Given the description of an element on the screen output the (x, y) to click on. 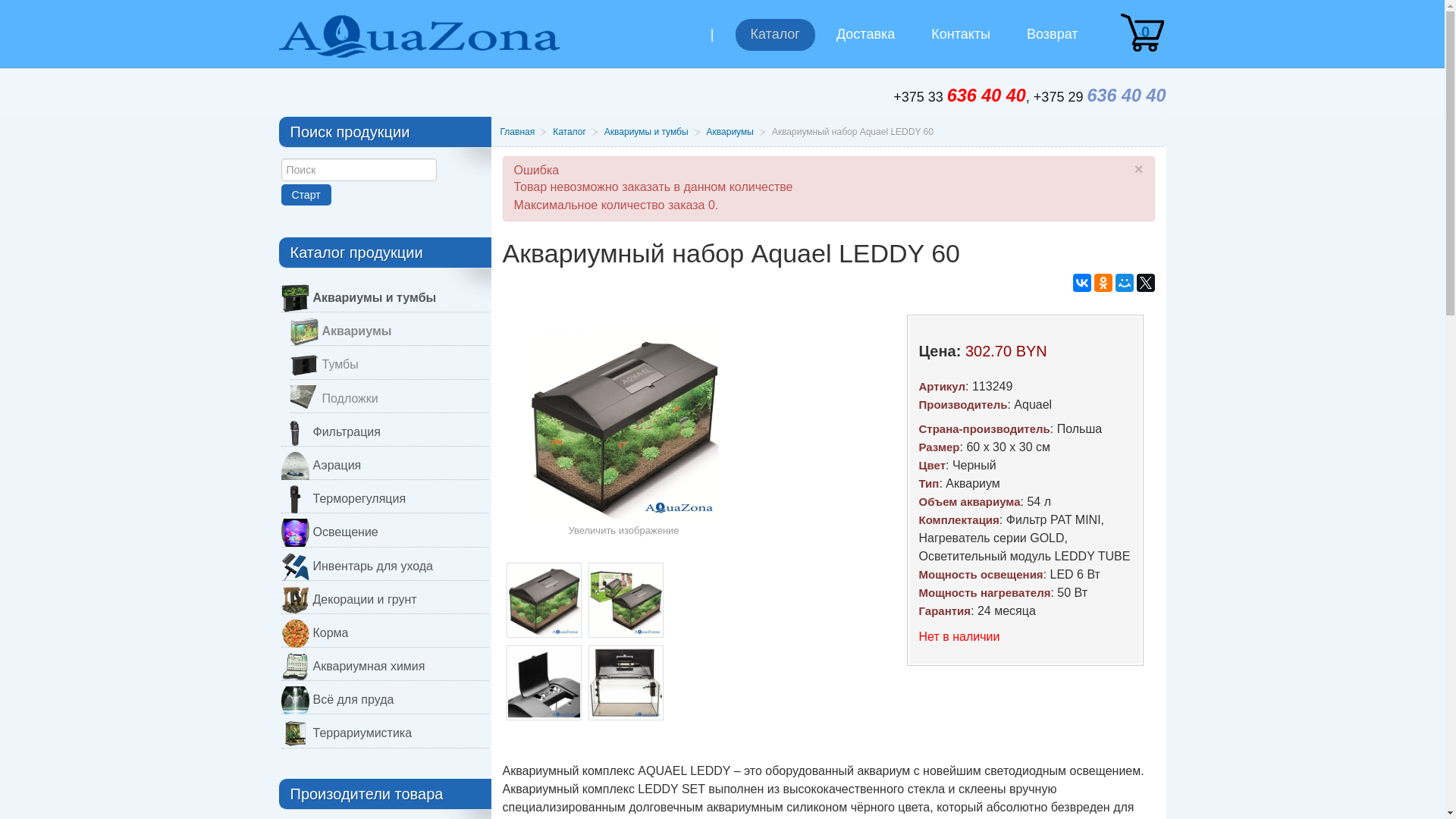
Twitter Element type: hover (1144, 282)
0 Element type: text (1141, 32)
| Element type: text (712, 45)
